Given the description of an element on the screen output the (x, y) to click on. 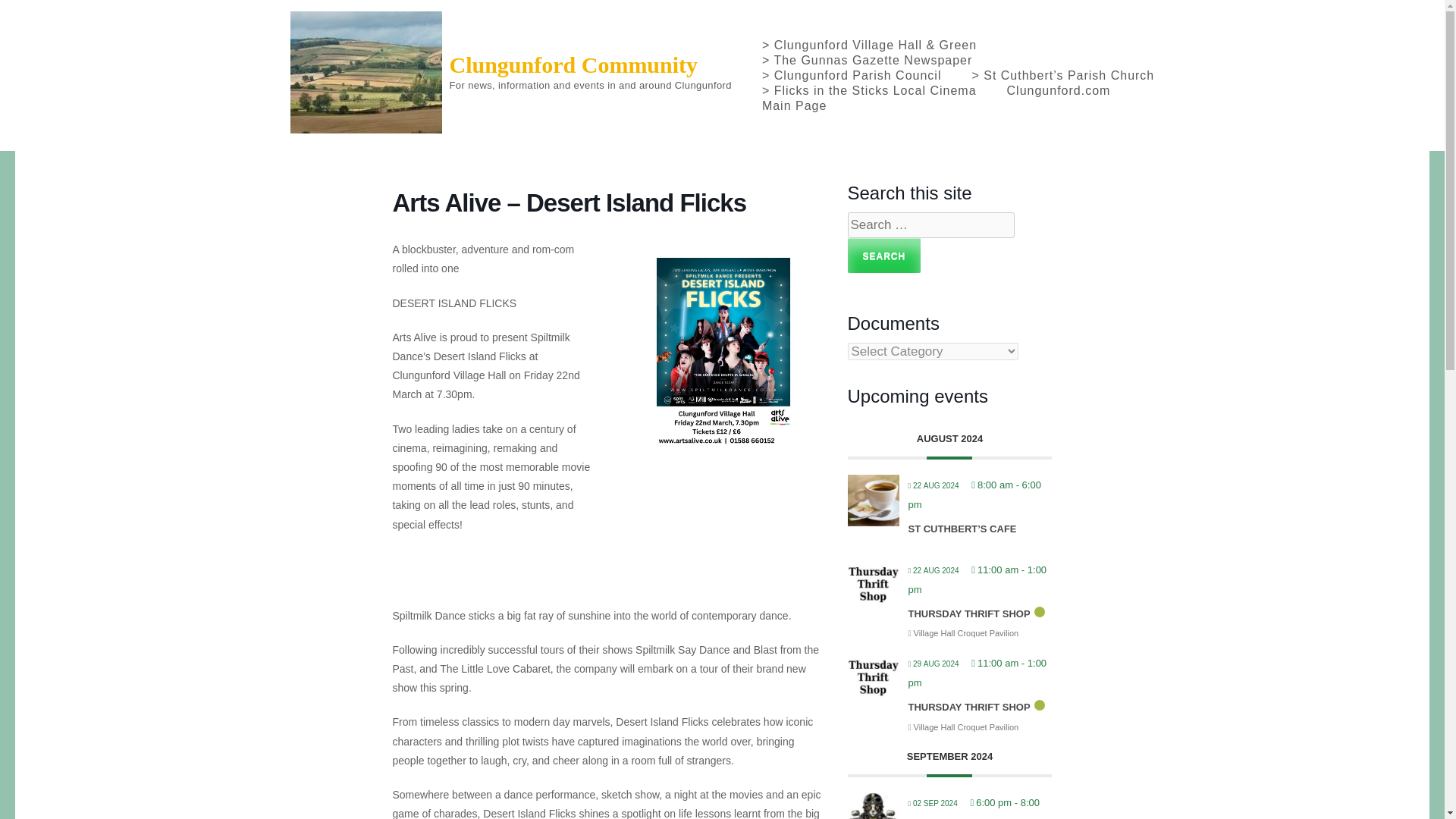
Search (884, 255)
Clungunford.com (1058, 90)
Search (884, 255)
Clungunford Community (572, 64)
Main Page (794, 105)
Search (884, 255)
